Given the description of an element on the screen output the (x, y) to click on. 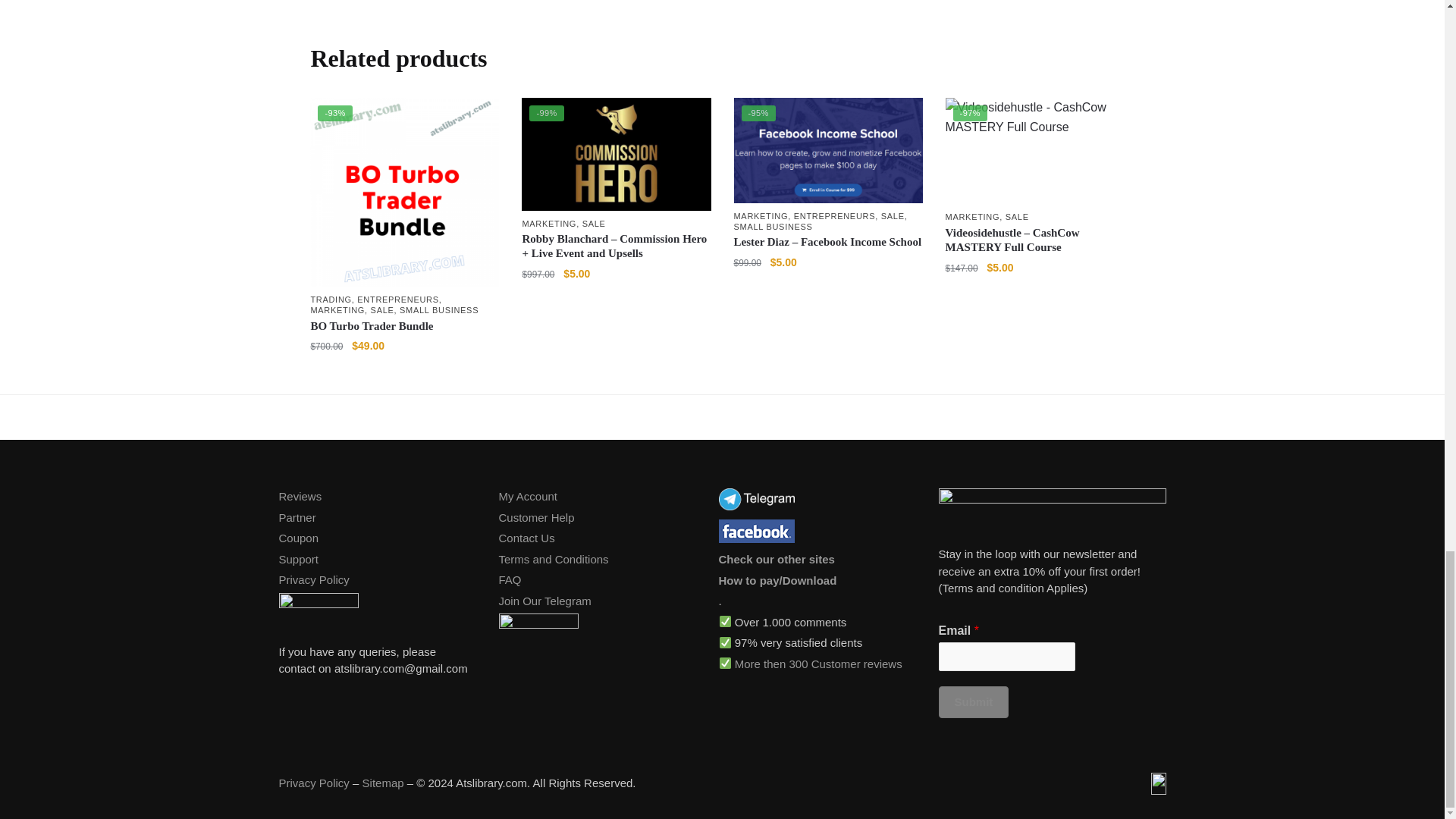
BO Turbo Trader Bundle (404, 191)
